Given the description of an element on the screen output the (x, y) to click on. 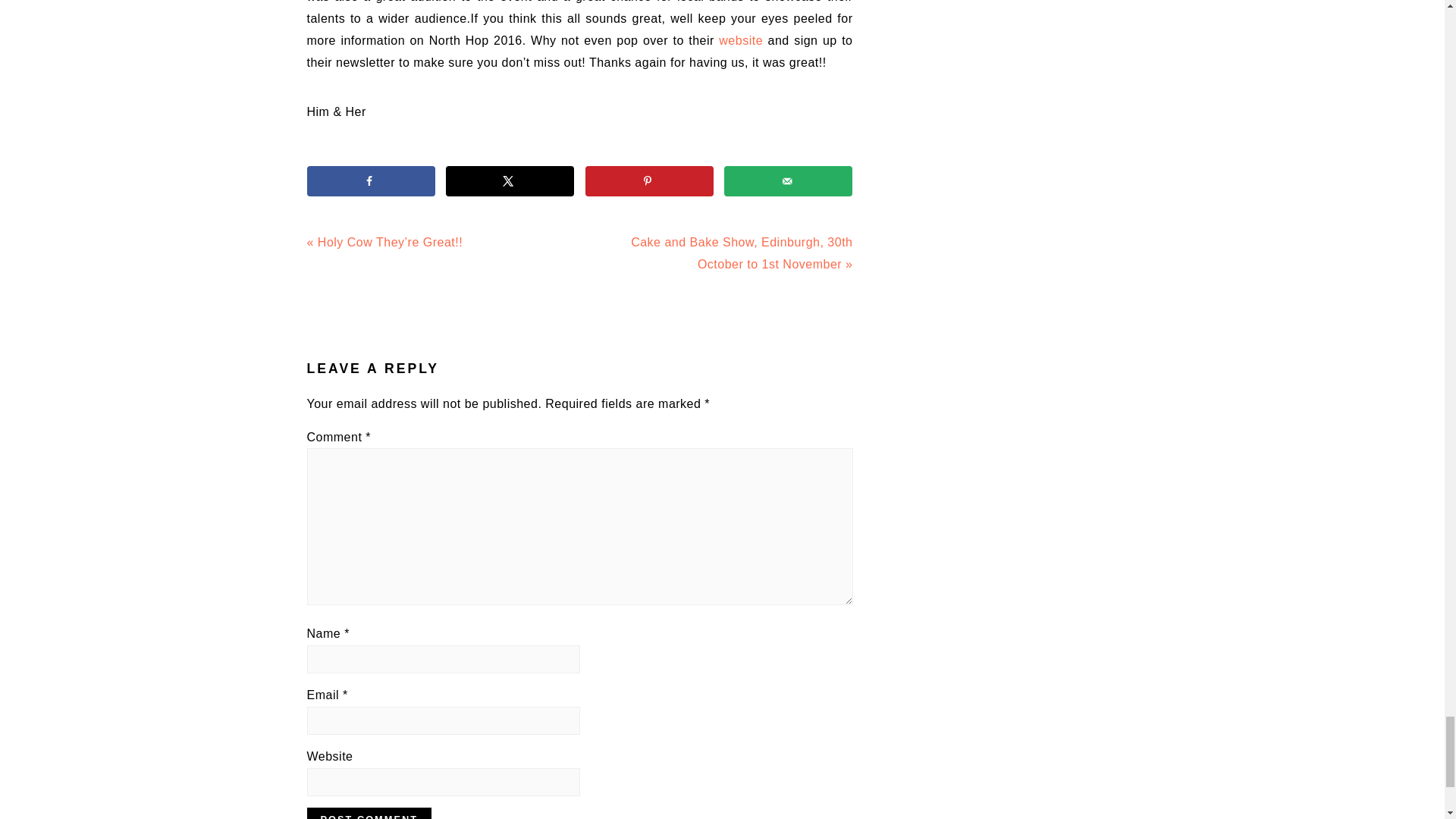
Save to Pinterest (649, 181)
Share on Facebook (369, 181)
Share on X (509, 181)
Post Comment (367, 813)
Send over email (787, 181)
